Given the description of an element on the screen output the (x, y) to click on. 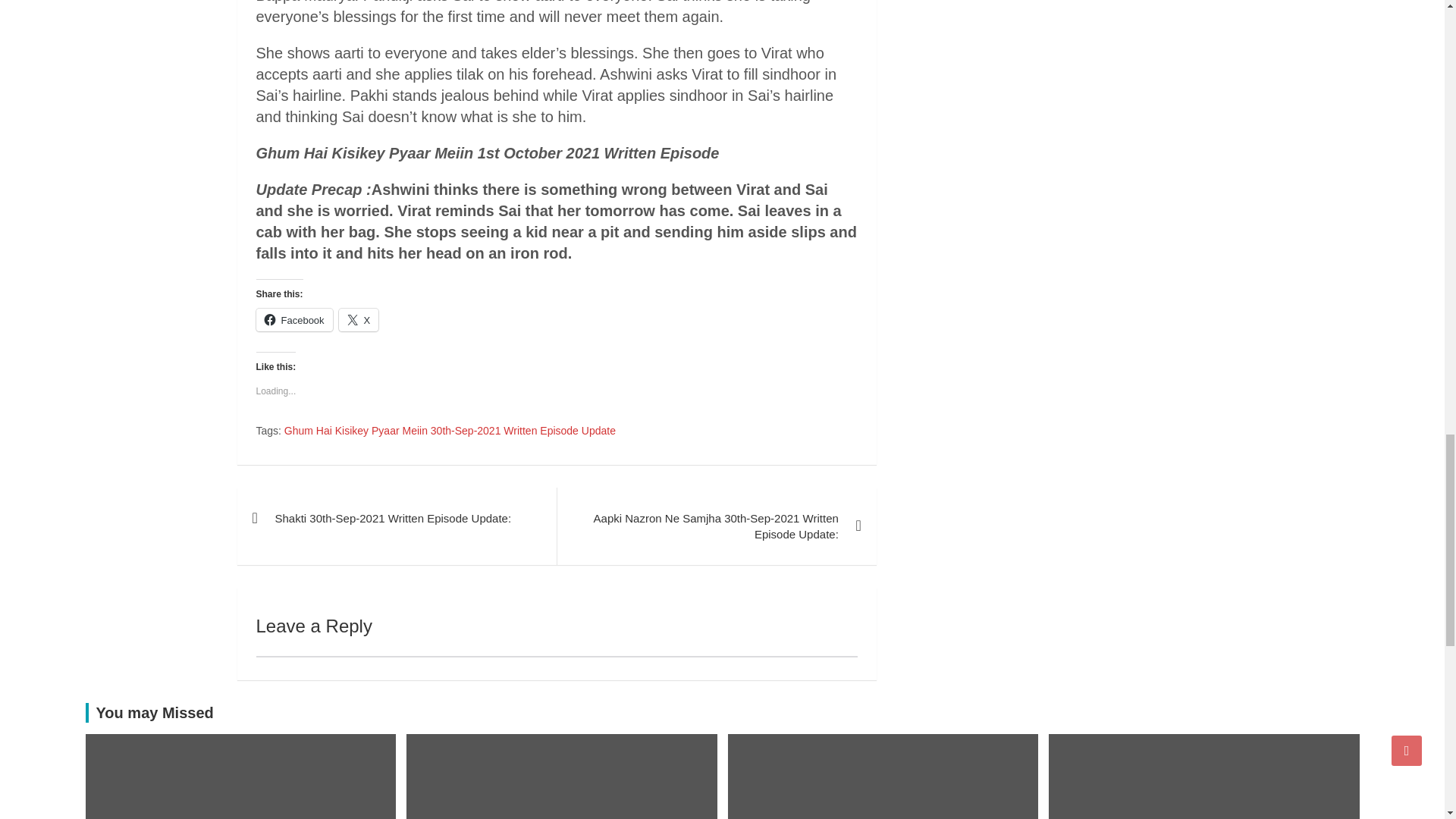
Click to share on Facebook (294, 319)
Click to share on X (358, 319)
